Given the description of an element on the screen output the (x, y) to click on. 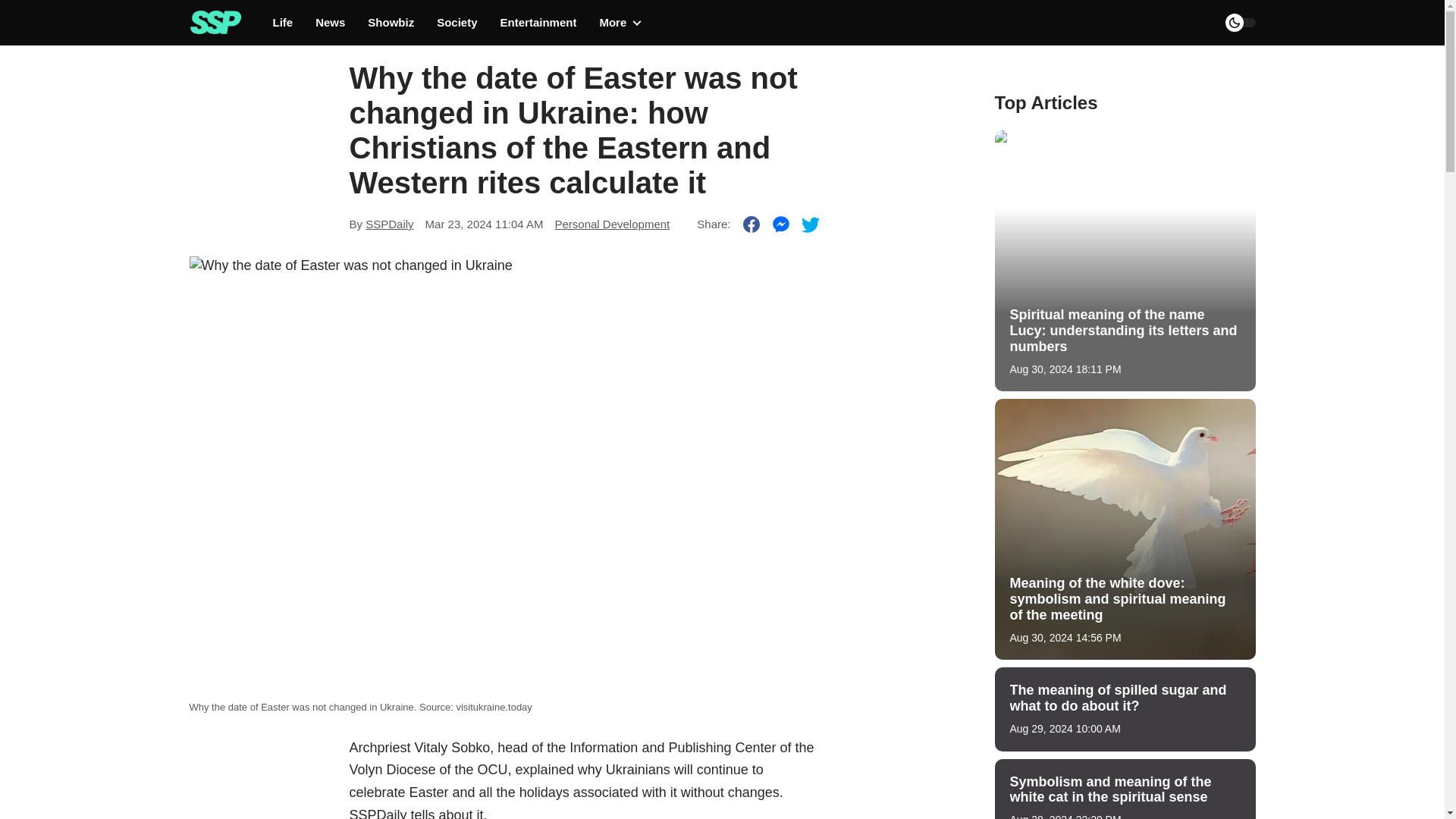
News (330, 22)
Showbiz (390, 22)
Entertainment (538, 22)
SSPDaily (389, 223)
Society (456, 22)
Life (283, 22)
Personal Development (611, 223)
